Given the description of an element on the screen output the (x, y) to click on. 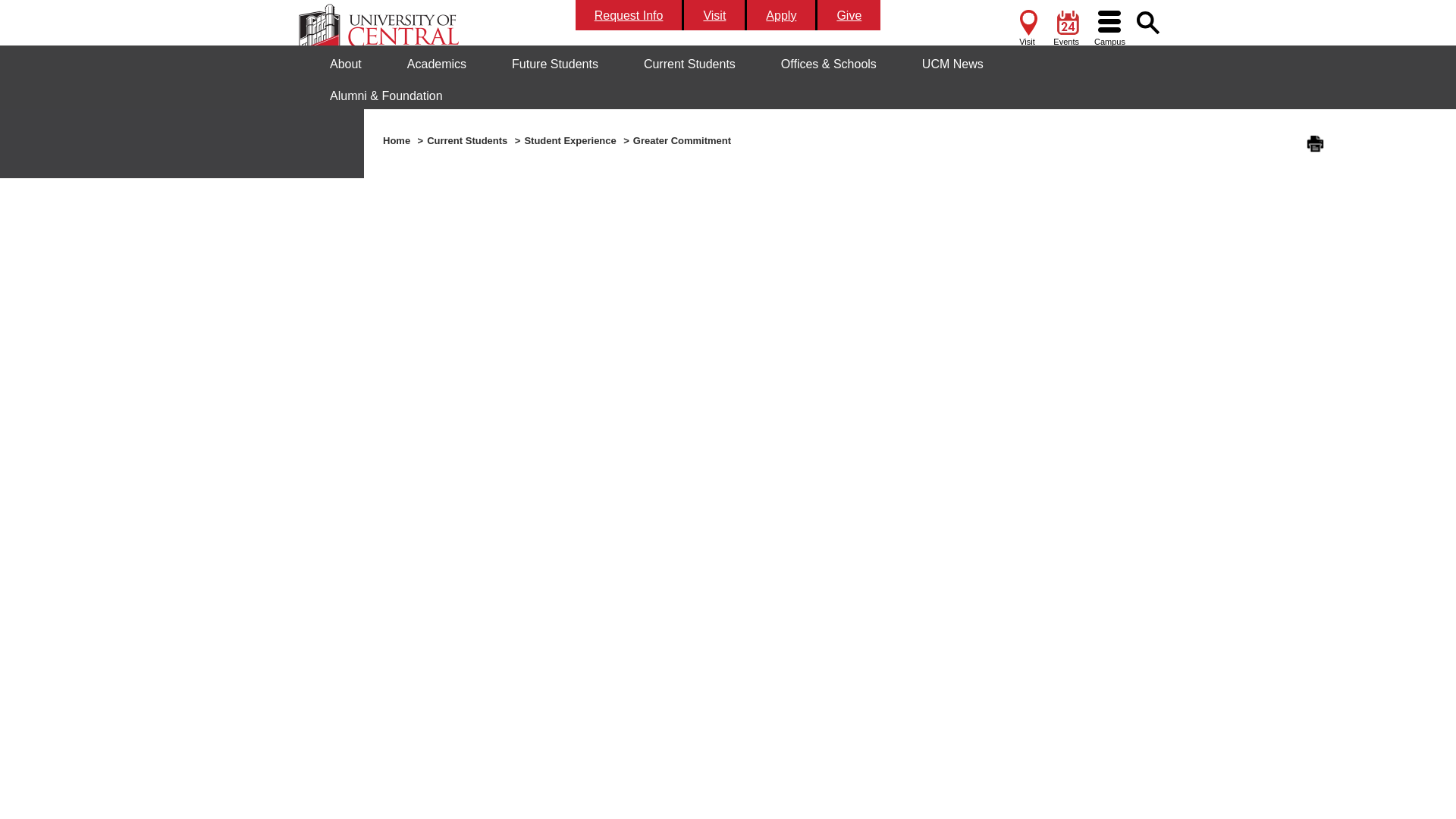
Events  (1065, 25)
Visit (715, 15)
Academics (436, 63)
About (345, 63)
Visit    (1026, 25)
Apply (781, 15)
Request More Information (629, 15)
About (345, 63)
Academics (436, 63)
Ways to Give to UCM (848, 15)
Apply to UCM (781, 15)
Request Info (629, 15)
Give (848, 15)
Visit UCM (715, 15)
